Given the description of an element on the screen output the (x, y) to click on. 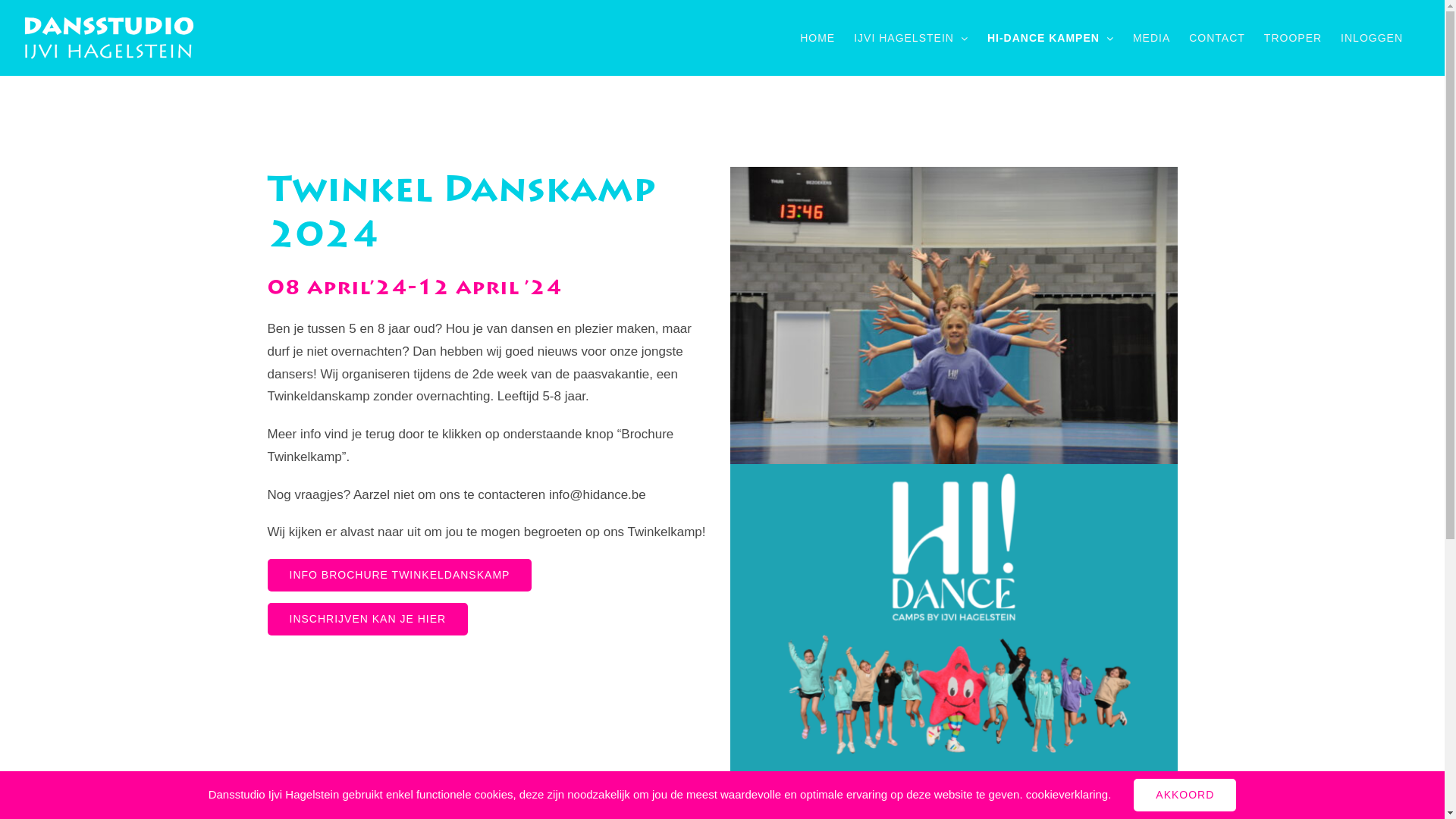
AKKOORD Element type: text (1184, 794)
cookieverklaring. Element type: text (1068, 793)
INLOGGEN Element type: text (1371, 37)
IJVI HAGELSTEIN Element type: text (910, 37)
DSC_0031 Element type: hover (952, 315)
HOME Element type: text (817, 37)
INFO BROCHURE TWINKELDANSKAMP Element type: text (398, 574)
MEDIA Element type: text (1151, 37)
INSCHRIJVEN KAN JE HIER Element type: text (366, 618)
HI-DANCE KAMPEN Element type: text (1050, 37)
CONTACT Element type: text (1217, 37)
TROOPER Element type: text (1292, 37)
